Given the description of an element on the screen output the (x, y) to click on. 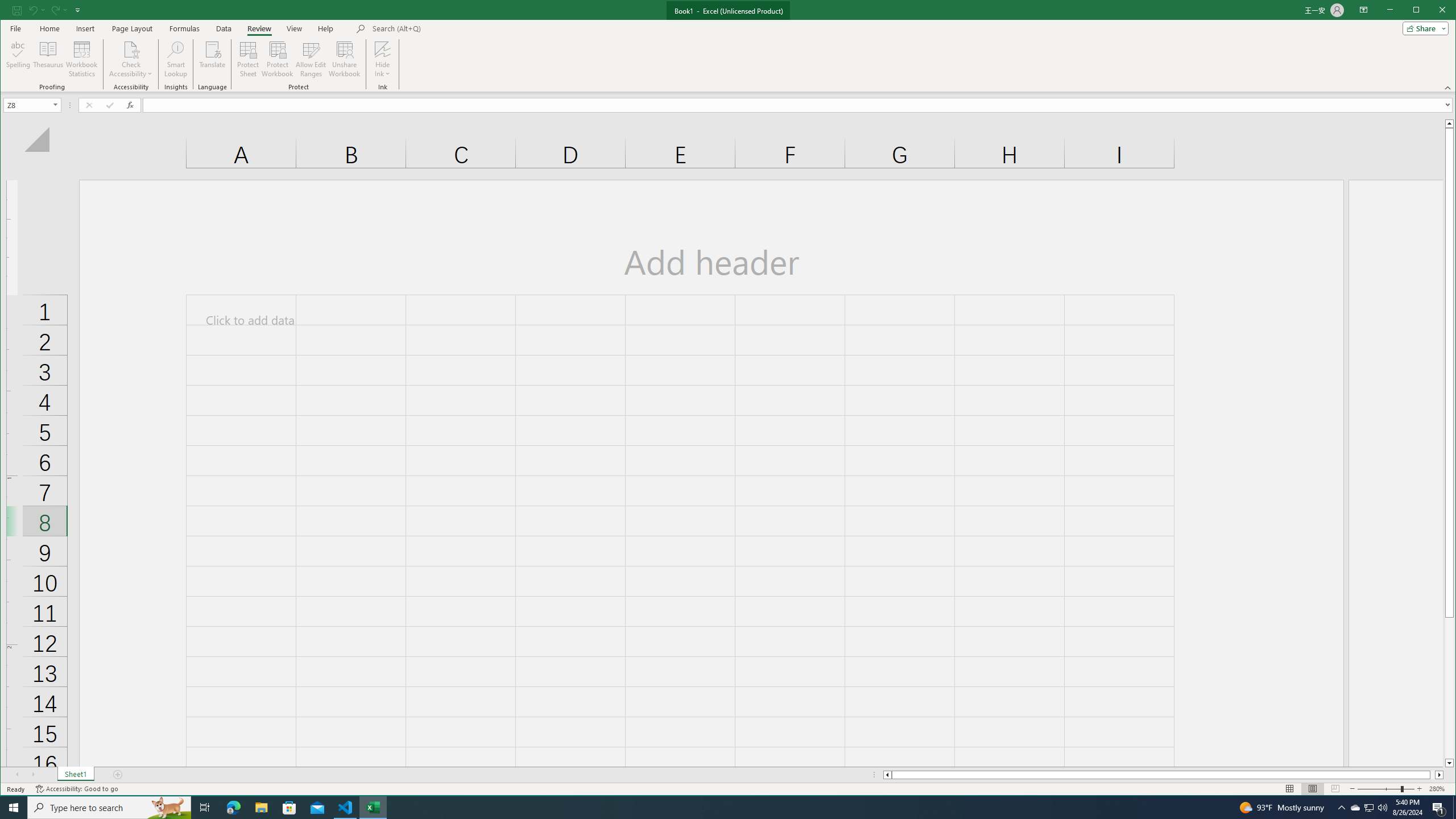
Spelling... (18, 59)
Unshare Workbook (344, 59)
Microsoft Store (289, 807)
Notification Chevron (1341, 807)
